Given the description of an element on the screen output the (x, y) to click on. 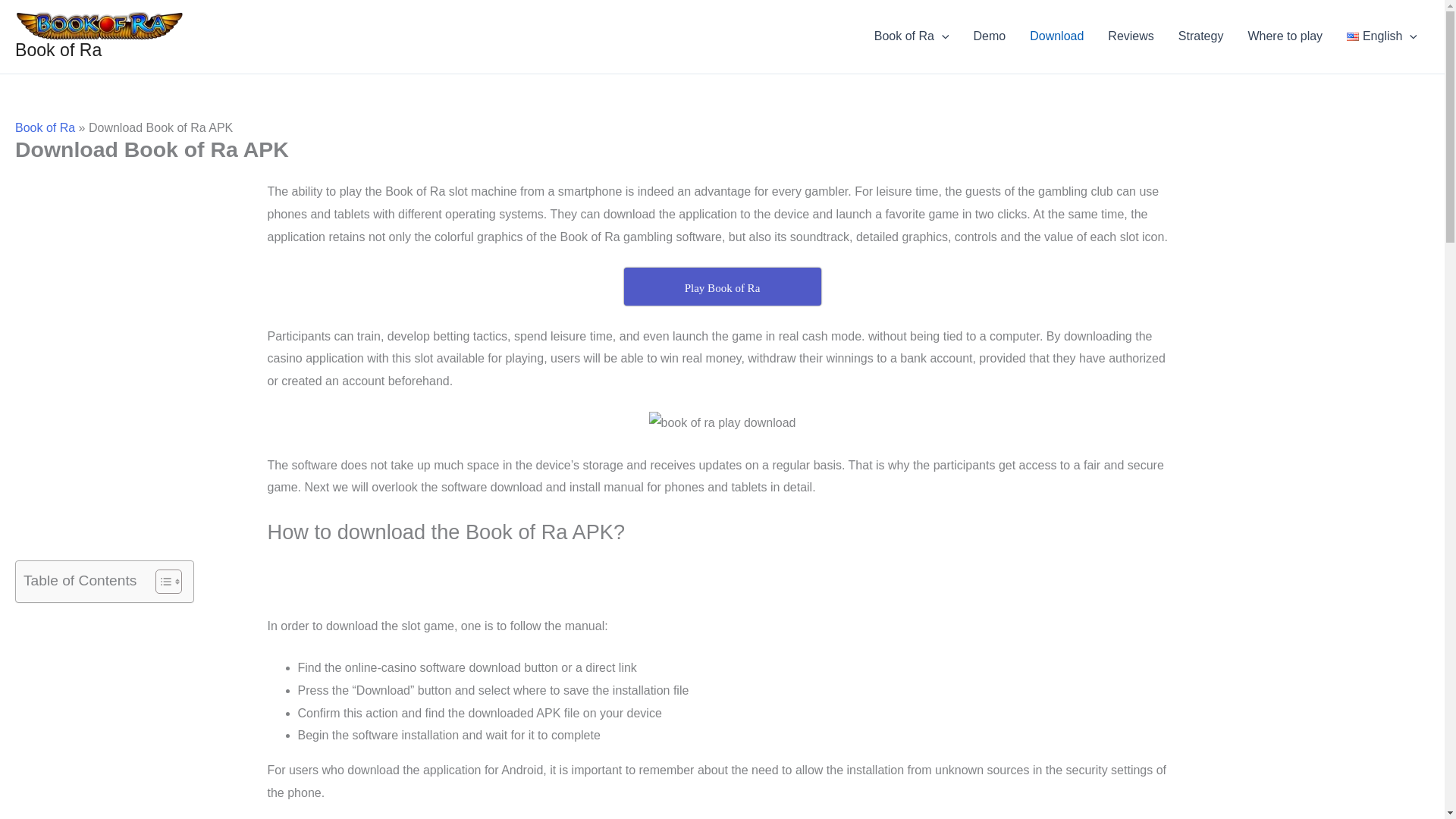
Book of Ra (910, 35)
Book of Ra (44, 127)
Demo (988, 35)
book of ra play download (722, 422)
English (1382, 35)
Where to play (1284, 35)
Book of Ra (57, 49)
Reviews (1131, 35)
Download (1056, 35)
Play Book of Ra (722, 286)
Strategy (1201, 35)
